Given the description of an element on the screen output the (x, y) to click on. 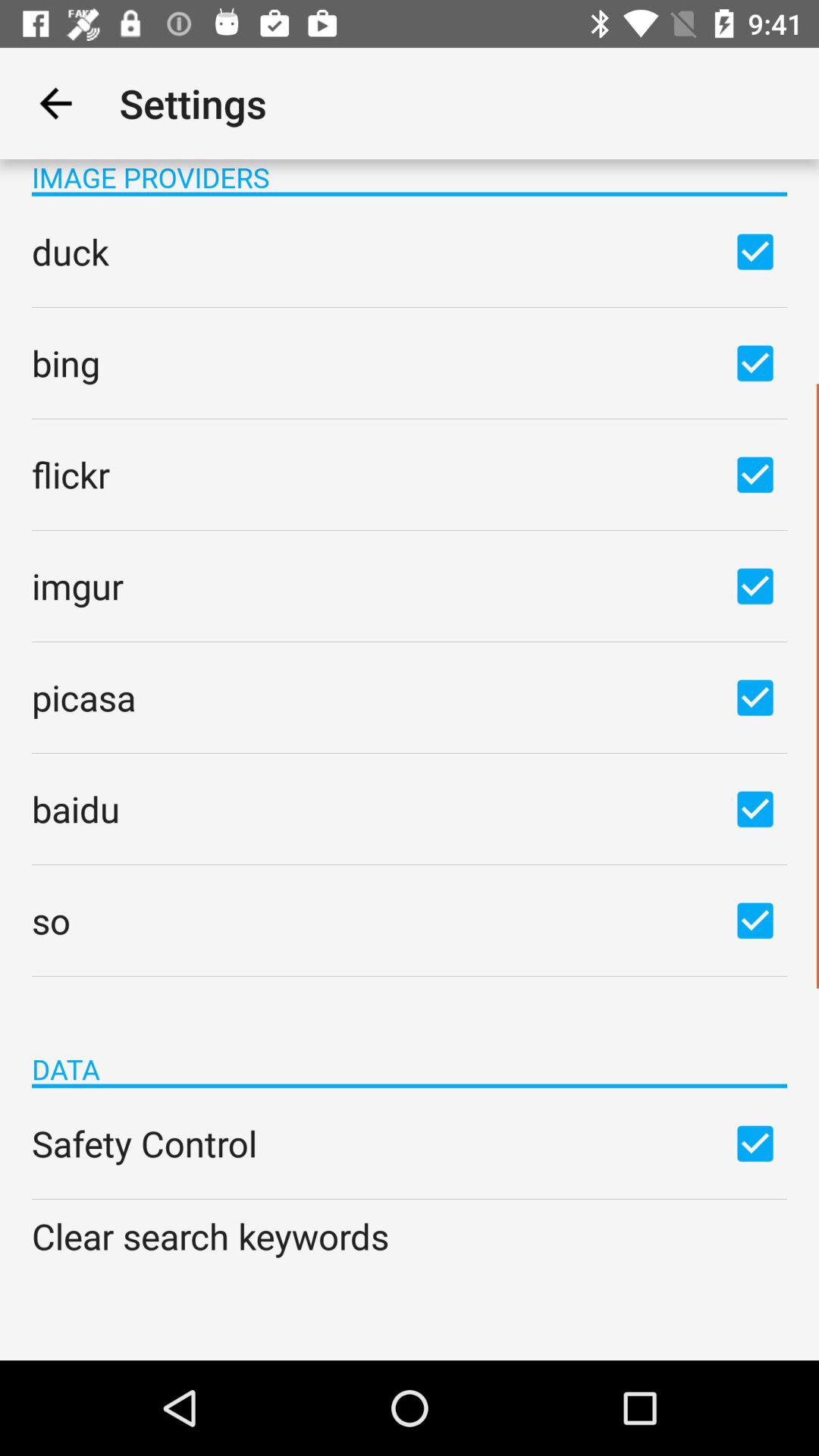
enable the option written on the left baidu (755, 808)
